Given the description of an element on the screen output the (x, y) to click on. 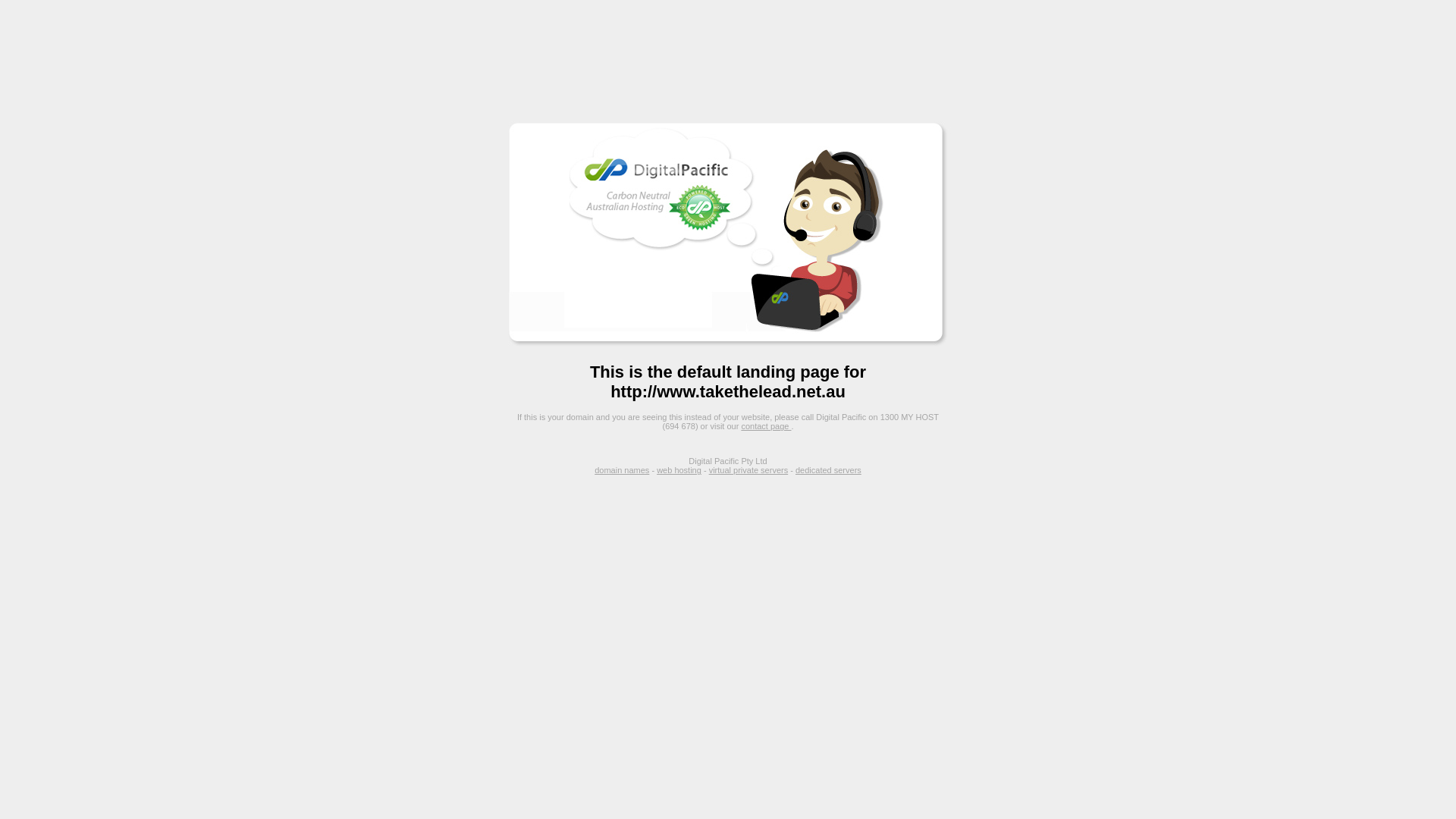
domain names Element type: text (621, 469)
dedicated servers Element type: text (828, 469)
web hosting Element type: text (678, 469)
contact page Element type: text (765, 425)
virtual private servers Element type: text (748, 469)
